Given the description of an element on the screen output the (x, y) to click on. 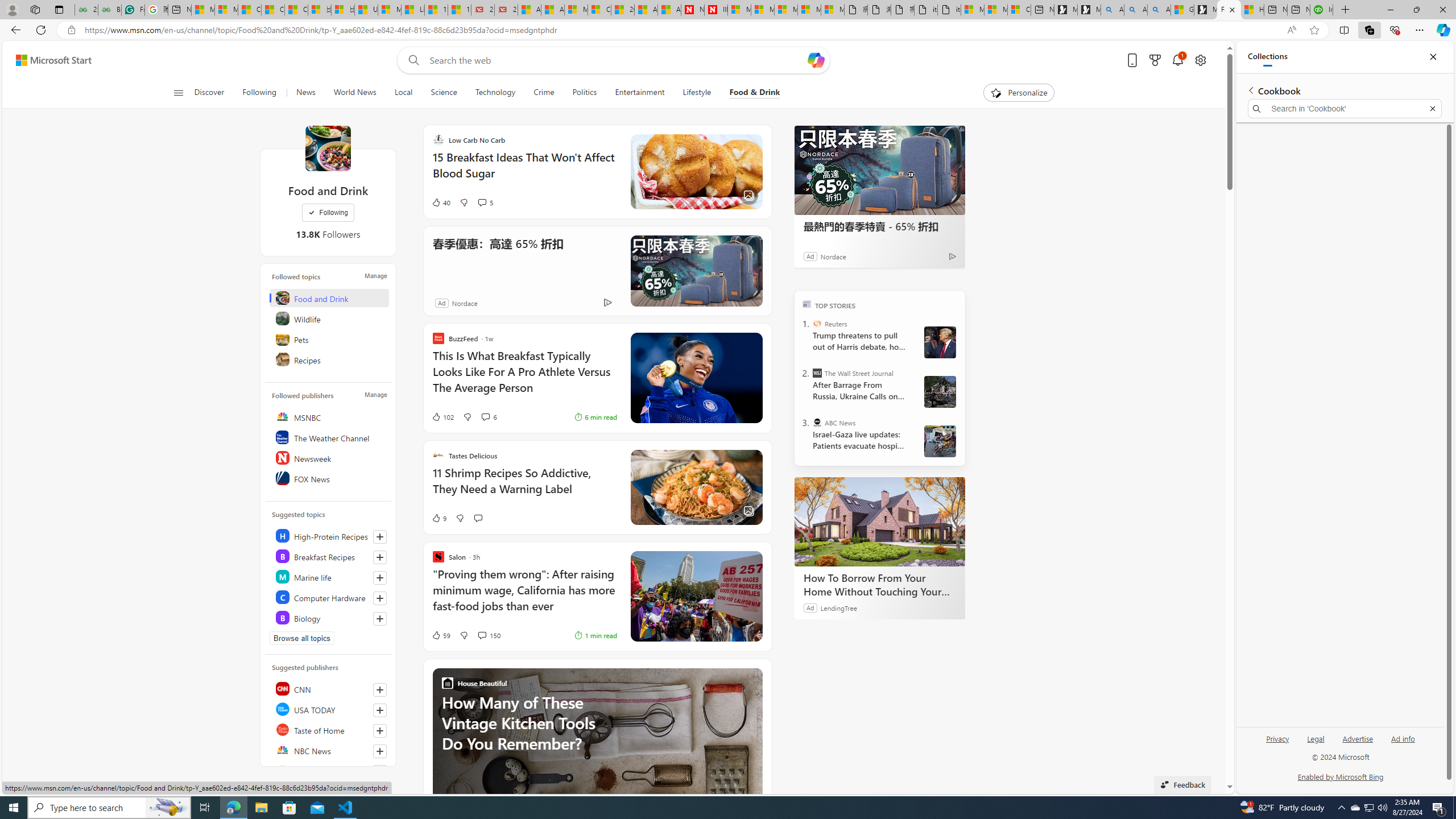
21 Movies That Outdid the Books They Were Based On (505, 9)
Class: highlight (328, 617)
Alabama high school quarterback dies - Search (1112, 9)
Search in 'Cookbook' (1345, 108)
